Given the description of an element on the screen output the (x, y) to click on. 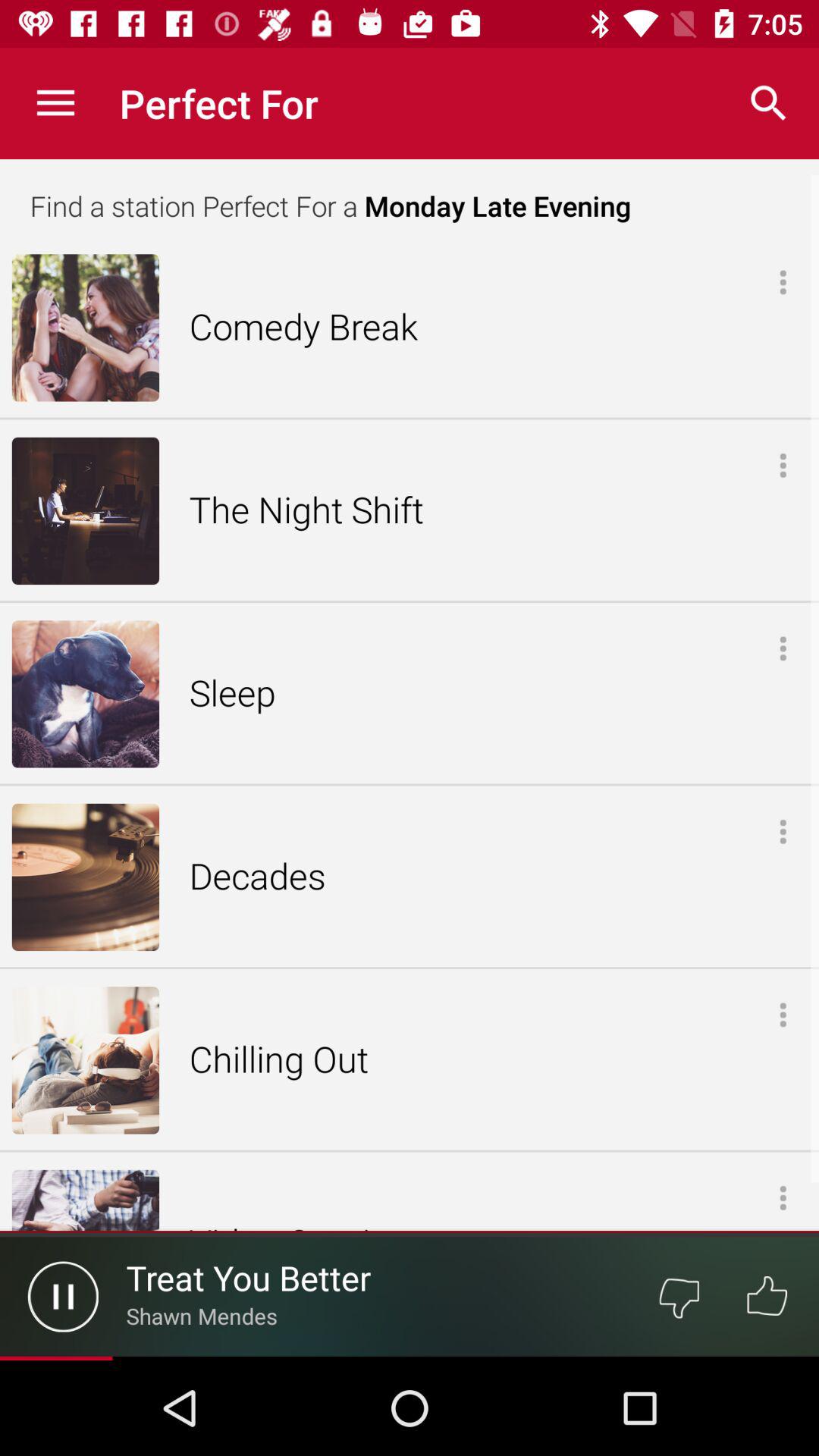
go to the sixth image (85, 1200)
image before decades text (85, 876)
click on dislike button at the bottom (679, 1296)
